Given the description of an element on the screen output the (x, y) to click on. 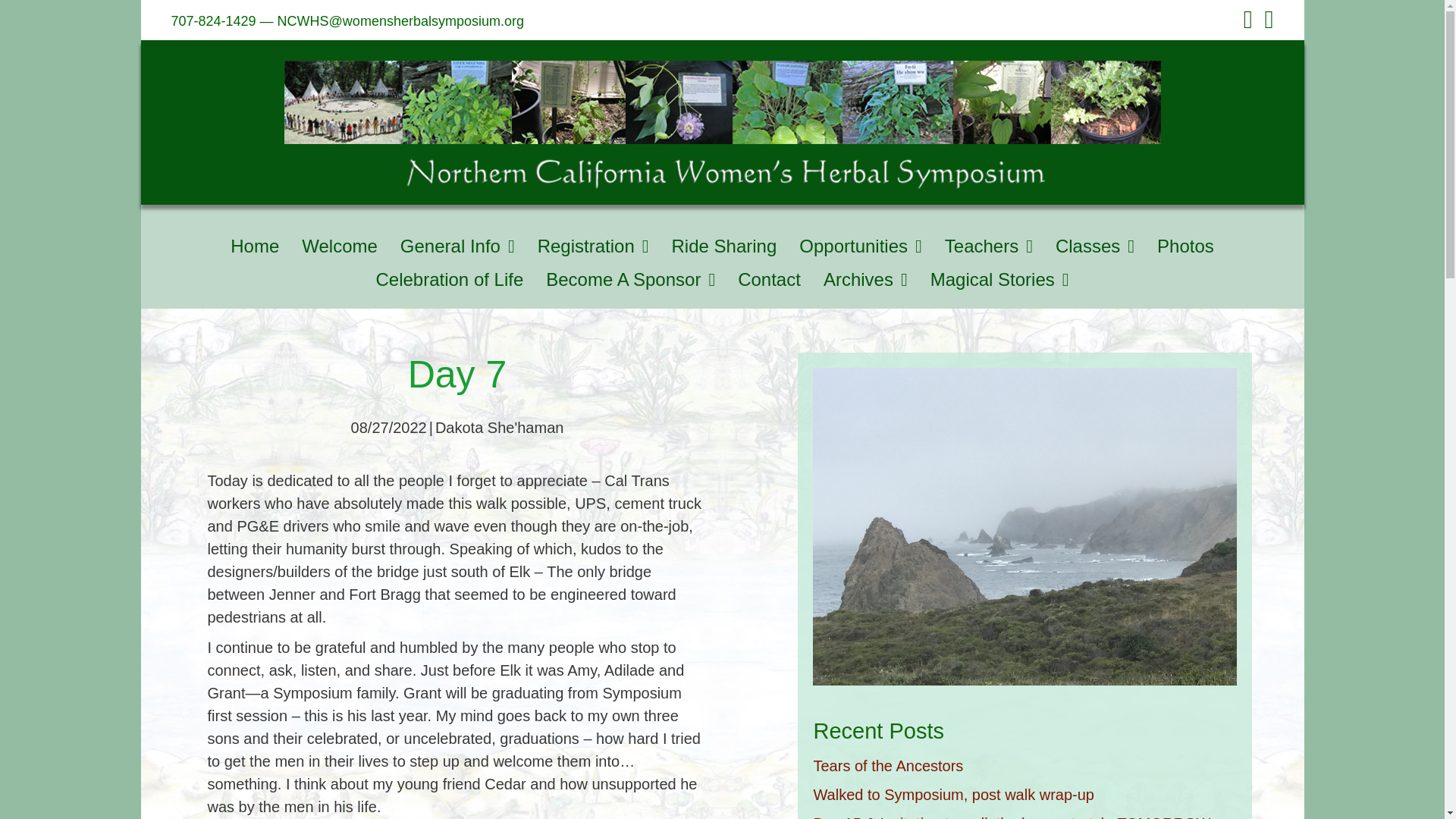
Opportunities (861, 249)
General Info (457, 249)
Registration (592, 249)
Home (254, 249)
Welcome (339, 249)
Ride Sharing (723, 249)
Teachers (989, 249)
SympHeaderCollage01.22 (721, 124)
